Given the description of an element on the screen output the (x, y) to click on. 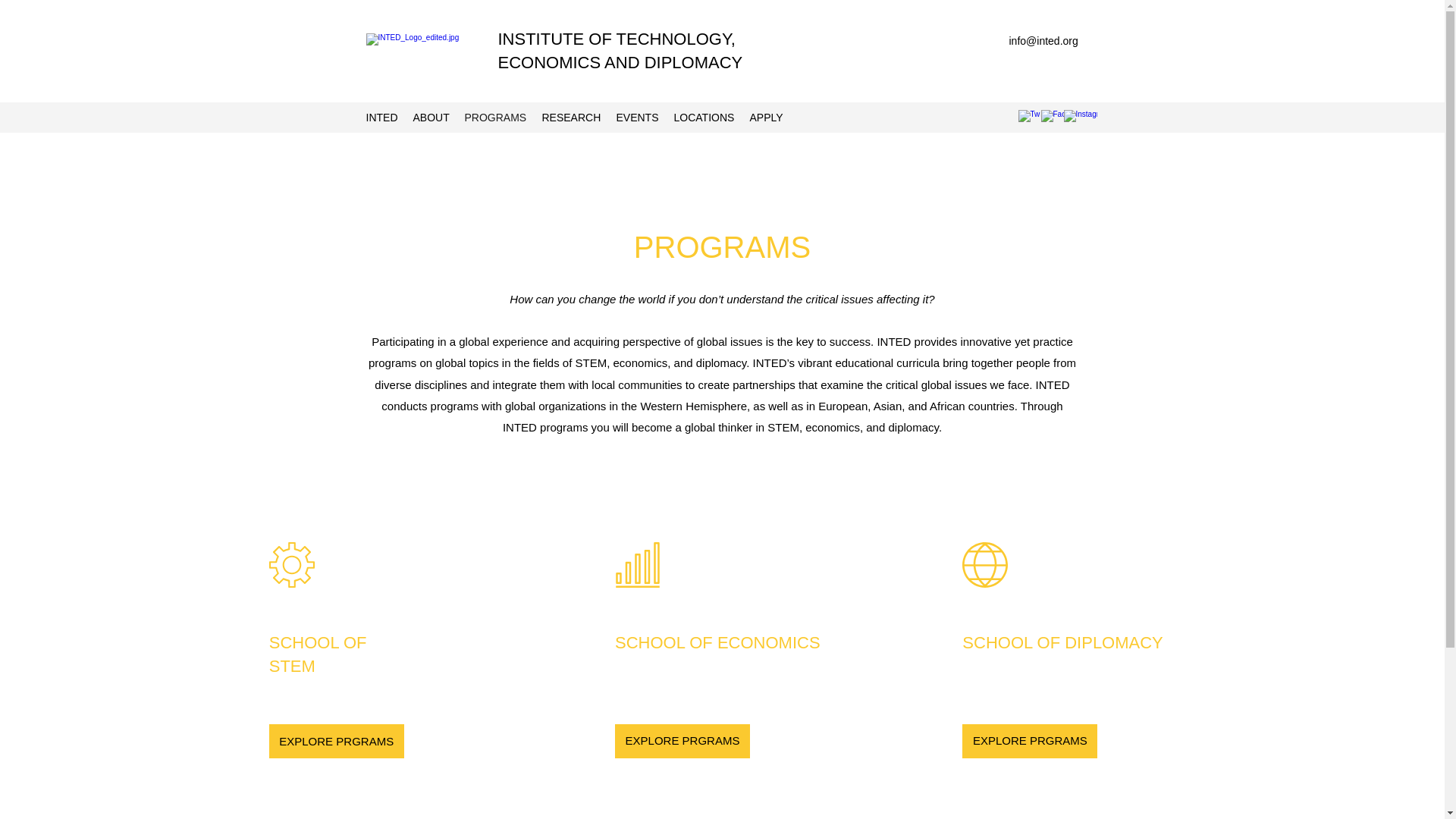
EVENTS (636, 117)
ABOUT (430, 117)
EXPLORE PRGRAMS (1029, 740)
RESEARCH (571, 117)
LOCATIONS (703, 117)
INTED (381, 117)
APPLY (765, 117)
PROGRAMS (495, 117)
EXPLORE PRGRAMS (336, 740)
EXPLORE PRGRAMS (681, 740)
